Given the description of an element on the screen output the (x, y) to click on. 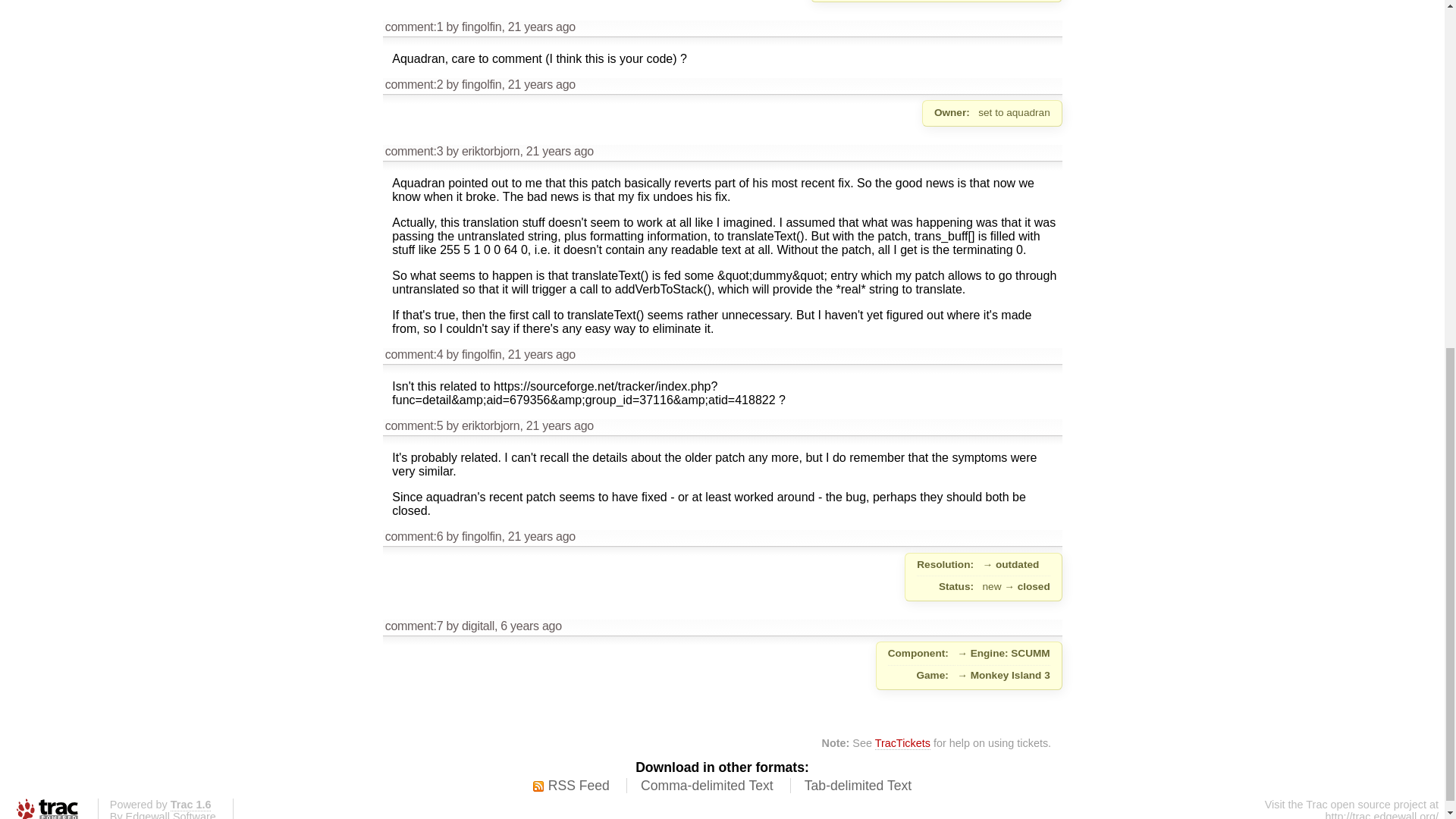
comment:2 (414, 83)
comment:3 (414, 151)
21 years ago (541, 83)
21 years ago (541, 26)
comment:1 (414, 26)
